Given the description of an element on the screen output the (x, y) to click on. 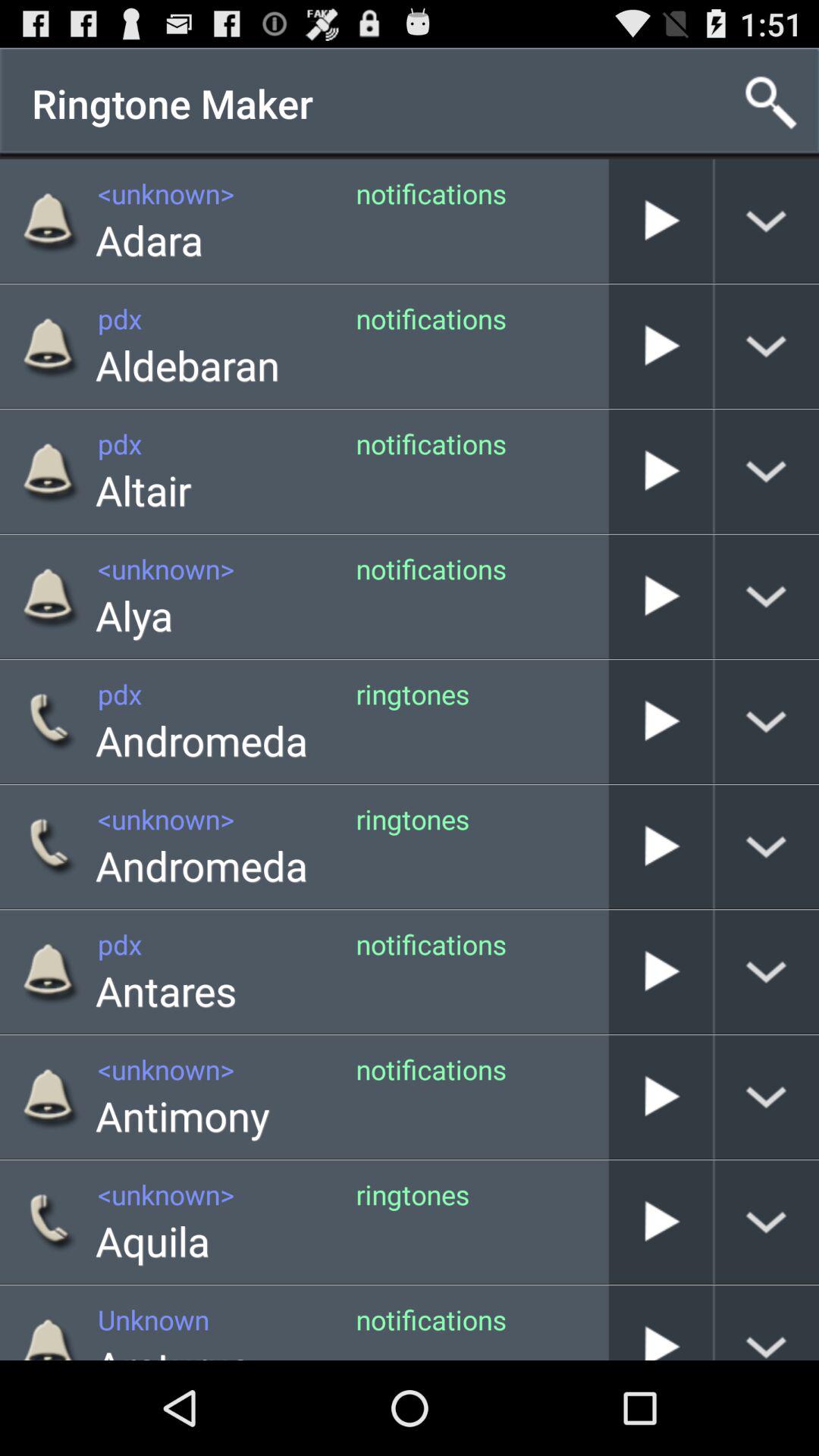
swipe to the aldebaran item (187, 364)
